Given the description of an element on the screen output the (x, y) to click on. 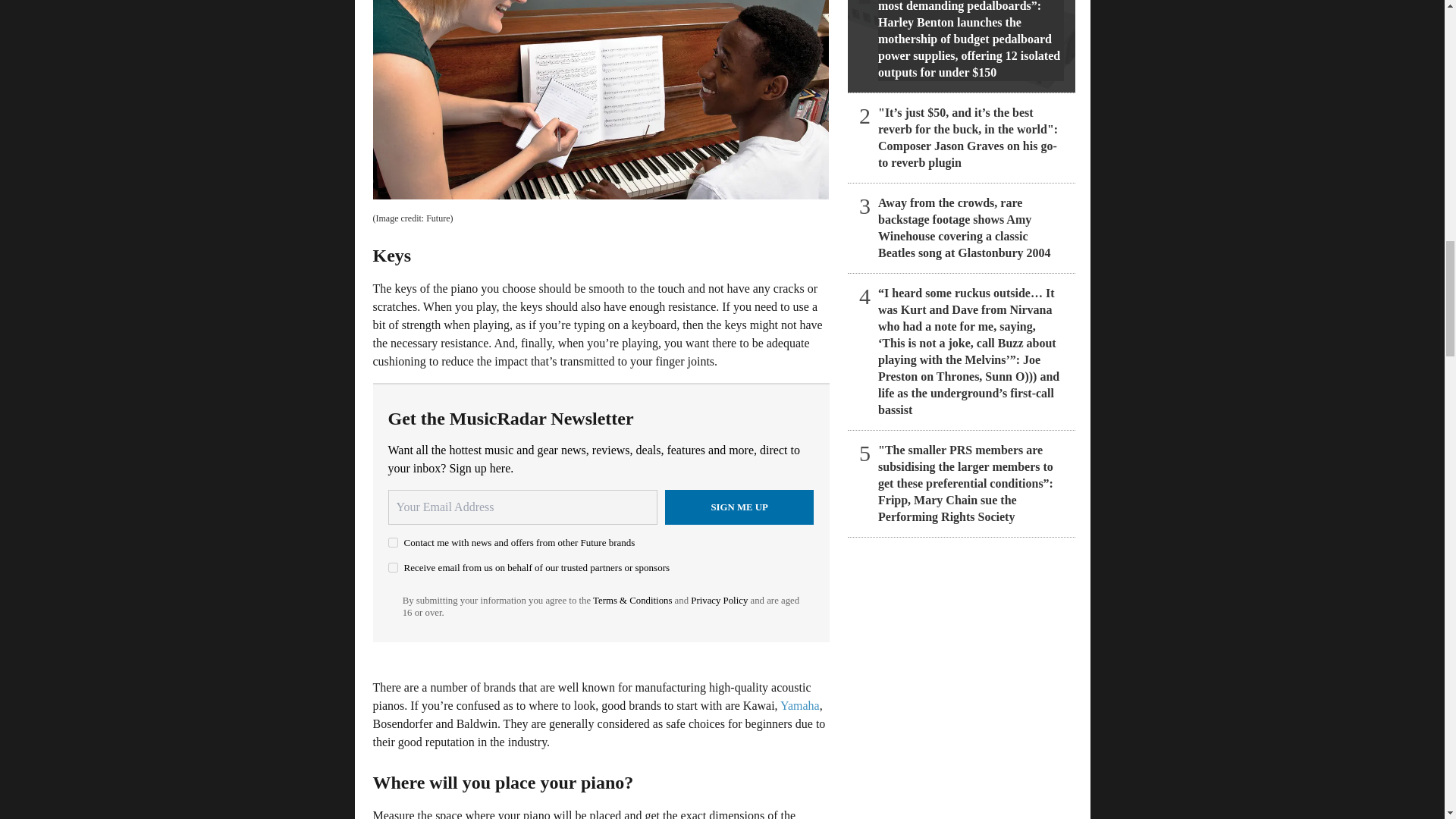
Sign me up (739, 506)
on (392, 567)
on (392, 542)
